Given the description of an element on the screen output the (x, y) to click on. 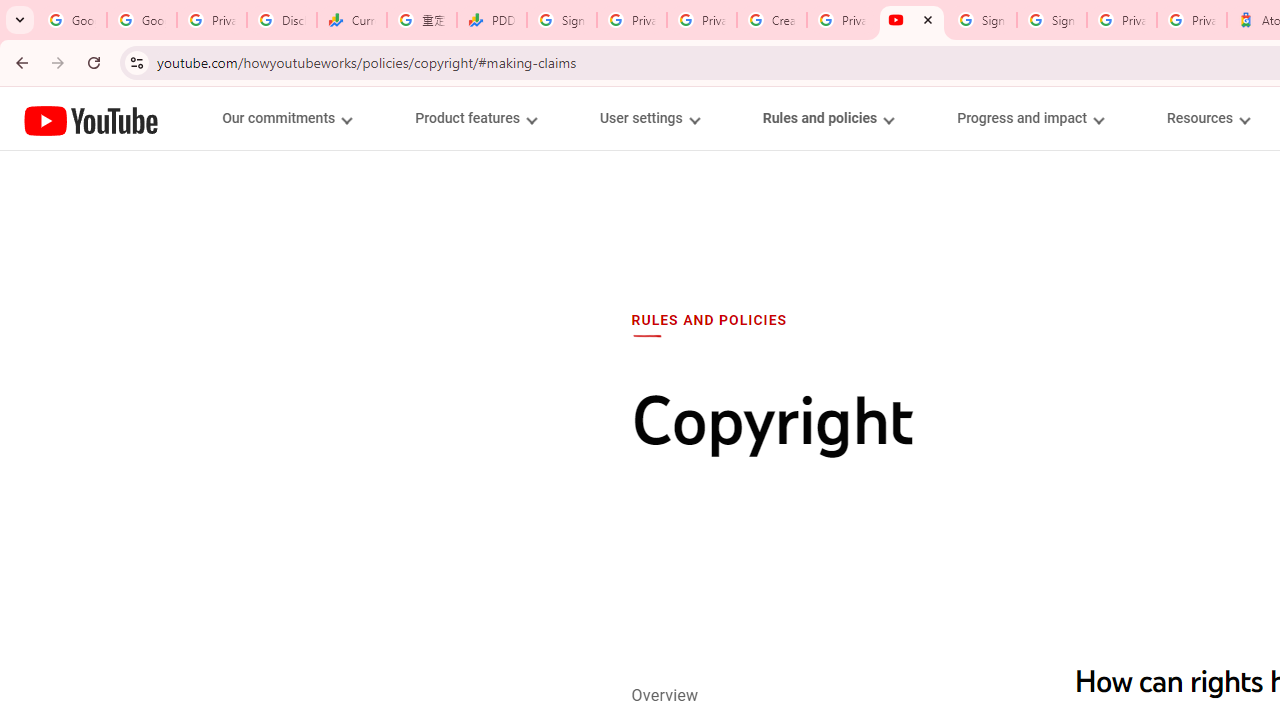
Rules and policies menupopup (827, 118)
Resources menupopup (1208, 118)
Sign in - Google Accounts (982, 20)
Sign in - Google Accounts (1051, 20)
Progress and impact menupopup (1030, 118)
User settings menupopup (648, 118)
PDD Holdings Inc - ADR (PDD) Price & News - Google Finance (492, 20)
YouTube (91, 120)
How YouTube Works (91, 118)
